Given the description of an element on the screen output the (x, y) to click on. 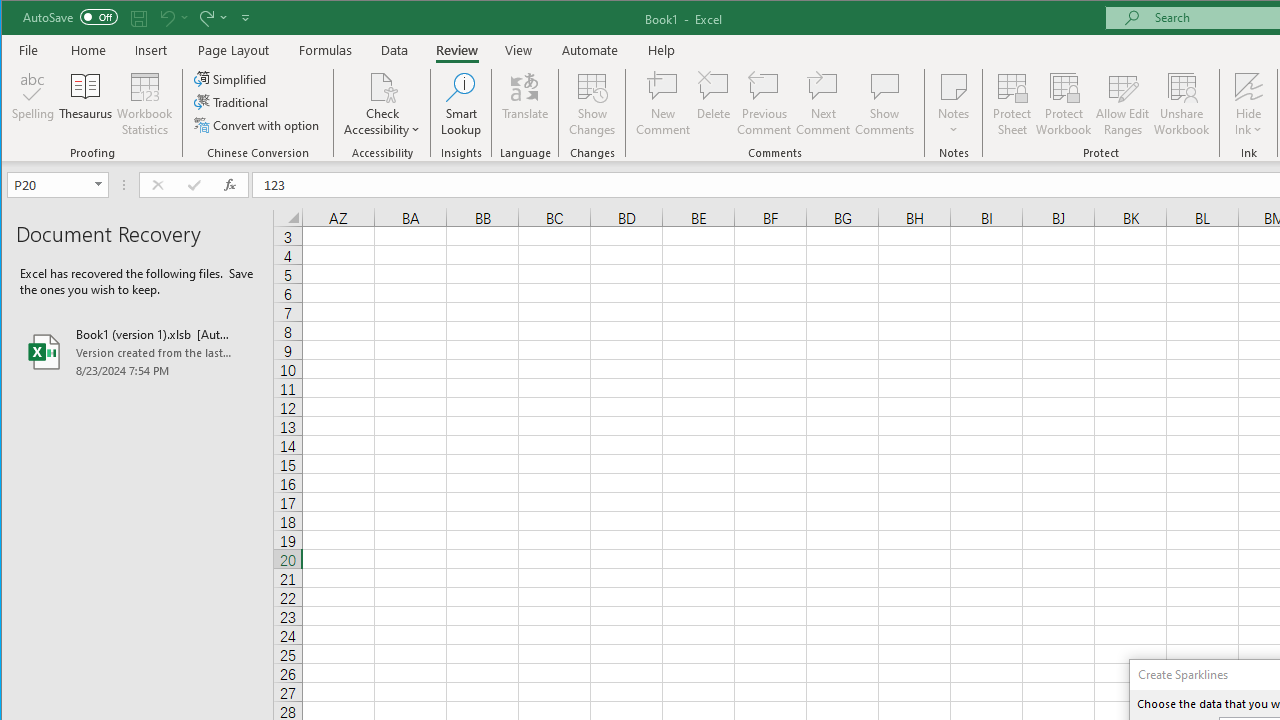
Translate (525, 104)
Unshare Workbook (1182, 104)
Protect Workbook... (1064, 104)
Next Comment (822, 104)
Delete (713, 104)
Book1 (version 1).xlsb  [AutoRecovered] (137, 352)
New Comment (662, 104)
